Given the description of an element on the screen output the (x, y) to click on. 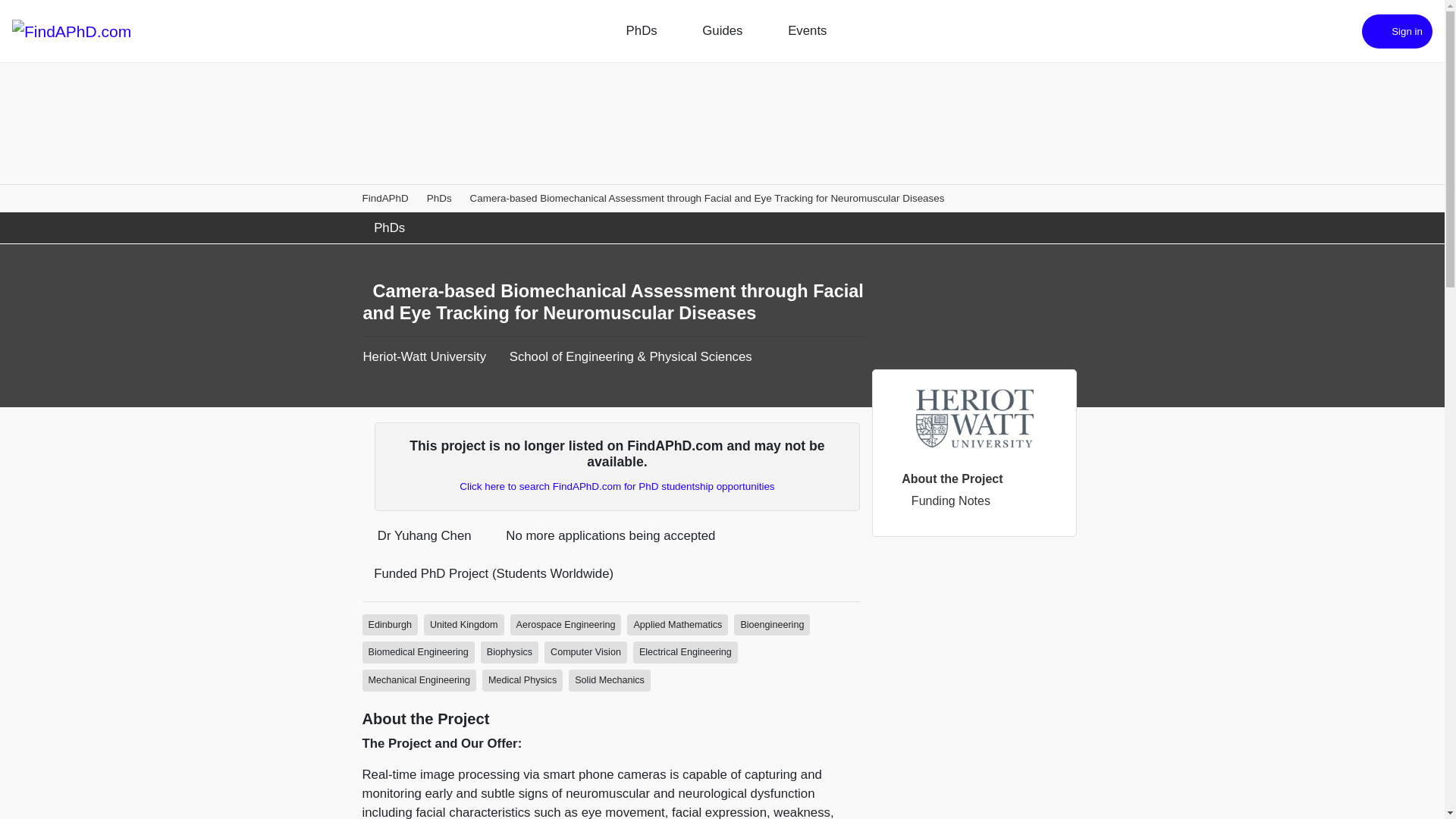
FindAPhD.com (71, 30)
FindAPhD (385, 197)
View all PhDs at Heriot-Watt University (424, 356)
Search FindAPhD.com for PhD projects (617, 486)
